Given the description of an element on the screen output the (x, y) to click on. 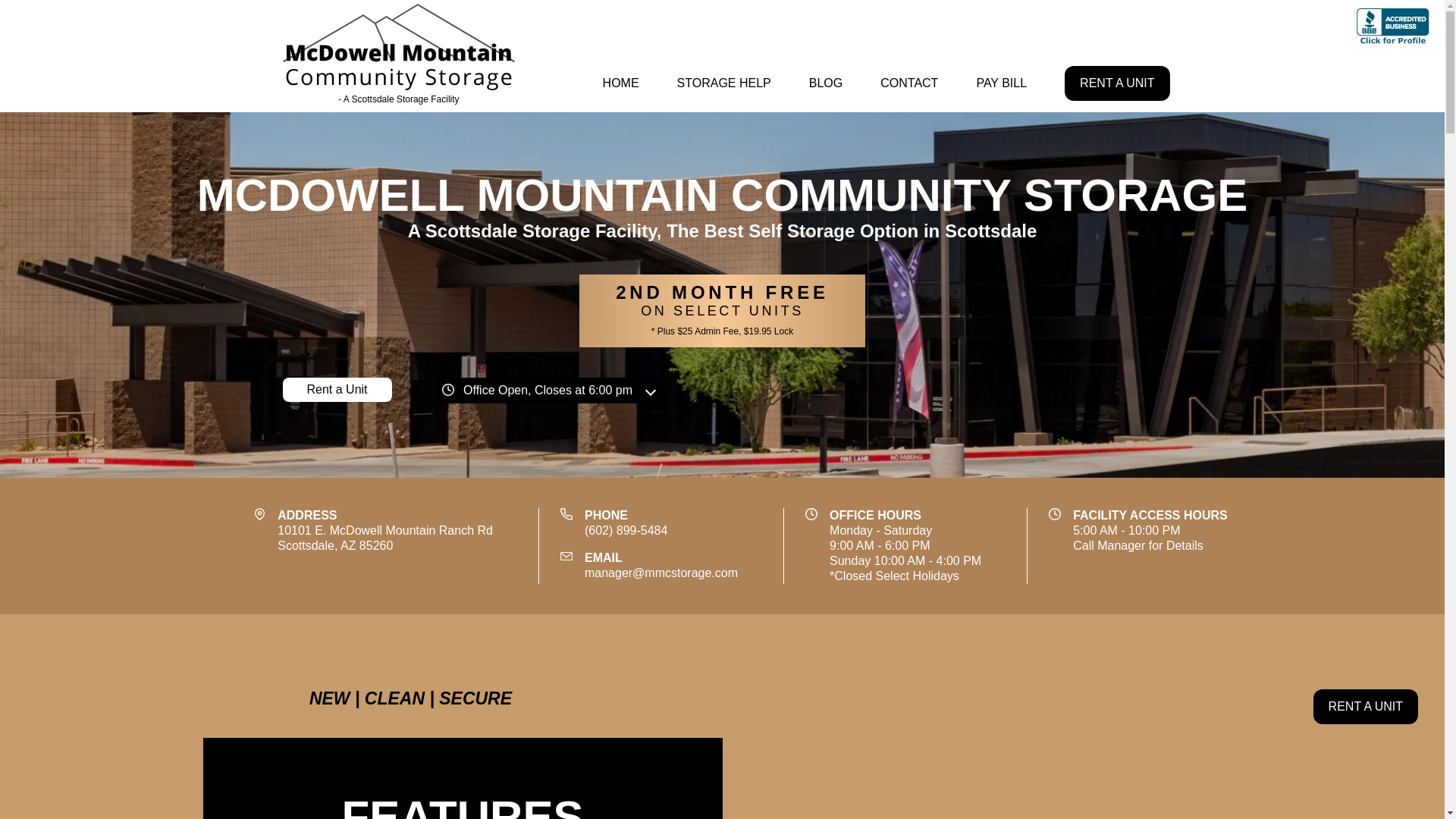
PAY BILL (1001, 83)
- A Scottsdale Storage Facility (385, 538)
HOME (398, 56)
CONTACT (620, 83)
Office Open, Closes at 6:00 pm (908, 83)
Rent a Unit (547, 390)
RENT A UNIT (336, 389)
RENT A UNIT (1116, 83)
BLOG (1365, 706)
